Given the description of an element on the screen output the (x, y) to click on. 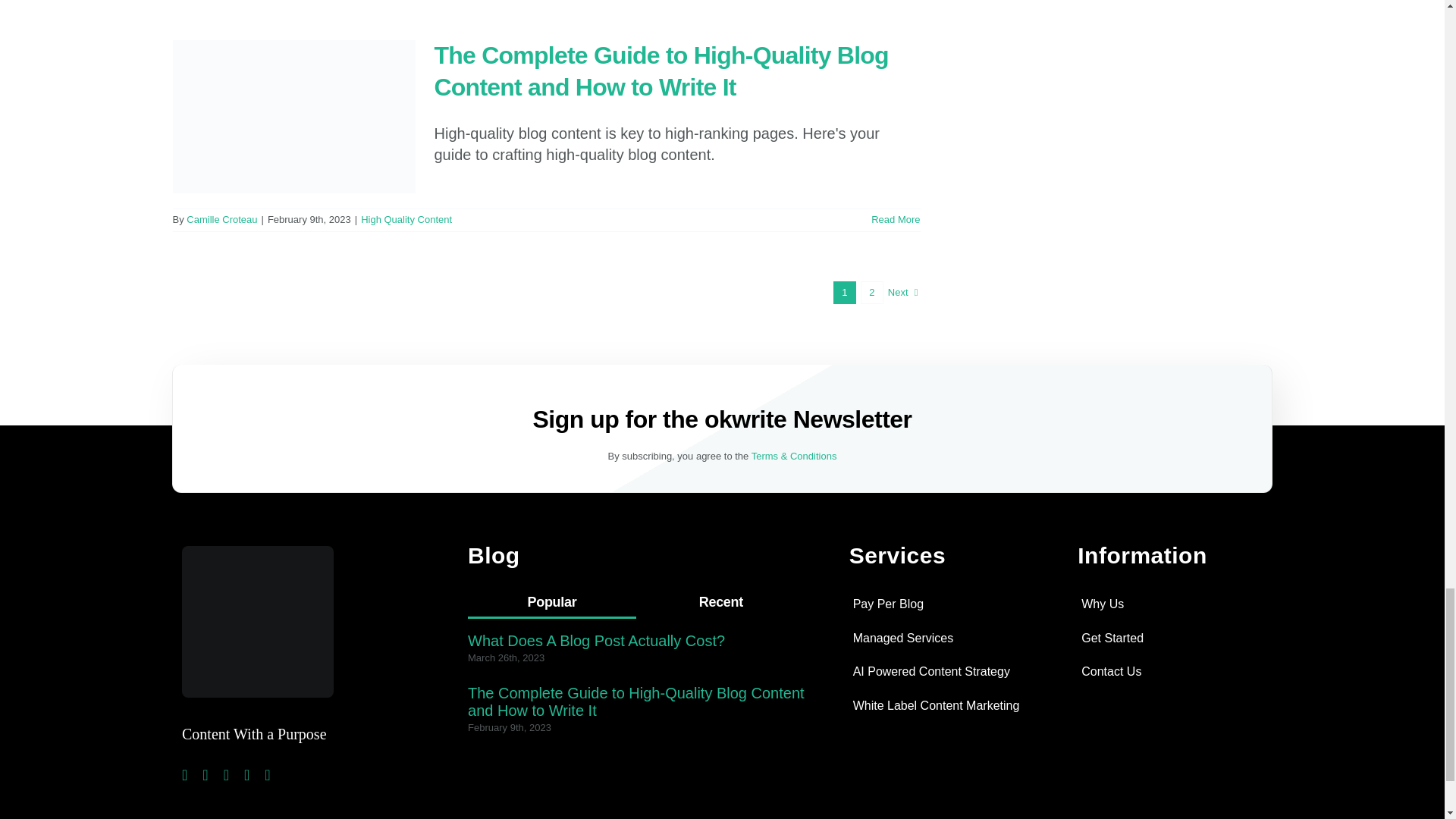
Posts by Camille Croteau (221, 219)
